Given the description of an element on the screen output the (x, y) to click on. 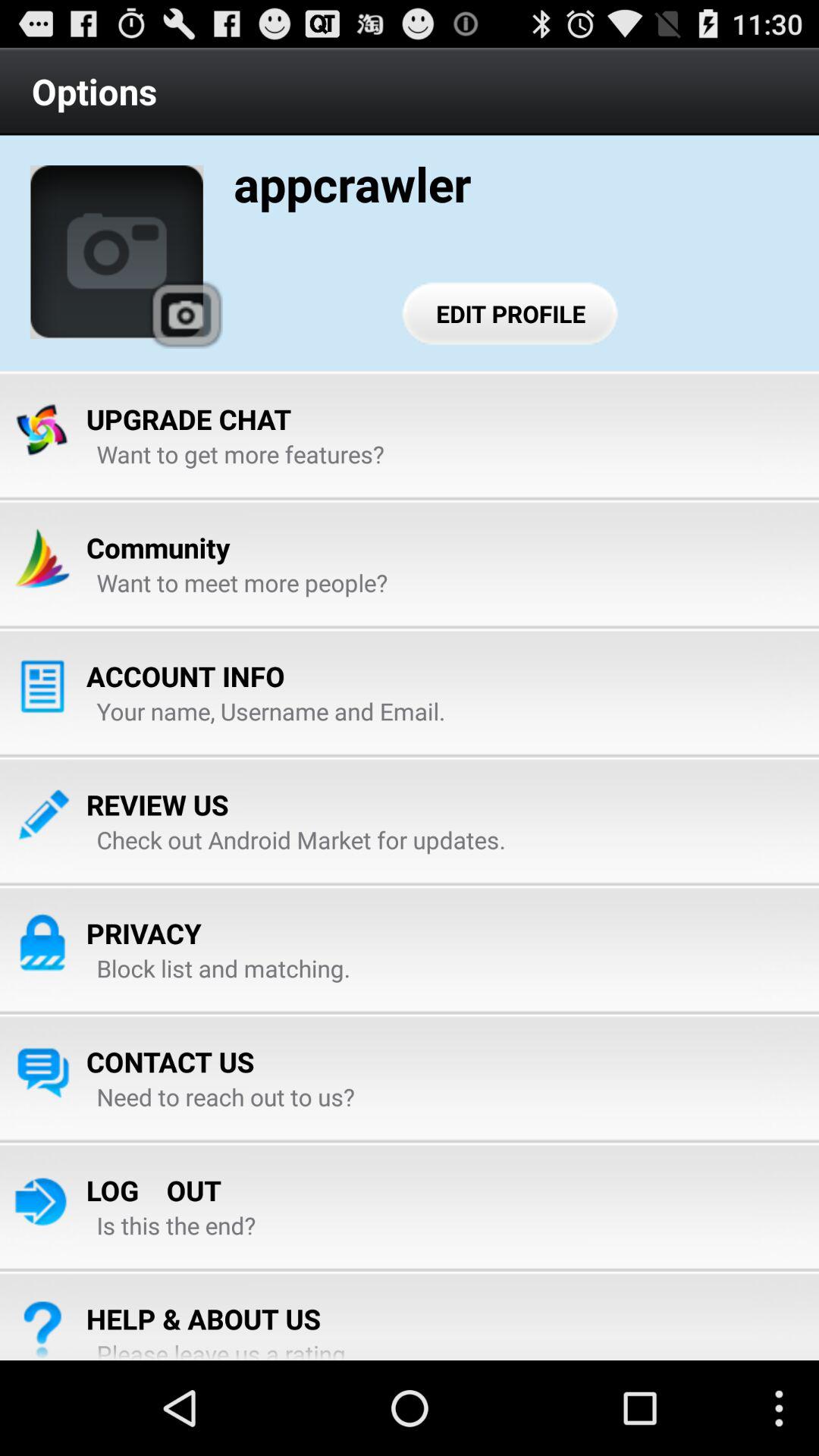
click community icon (158, 547)
